Given the description of an element on the screen output the (x, y) to click on. 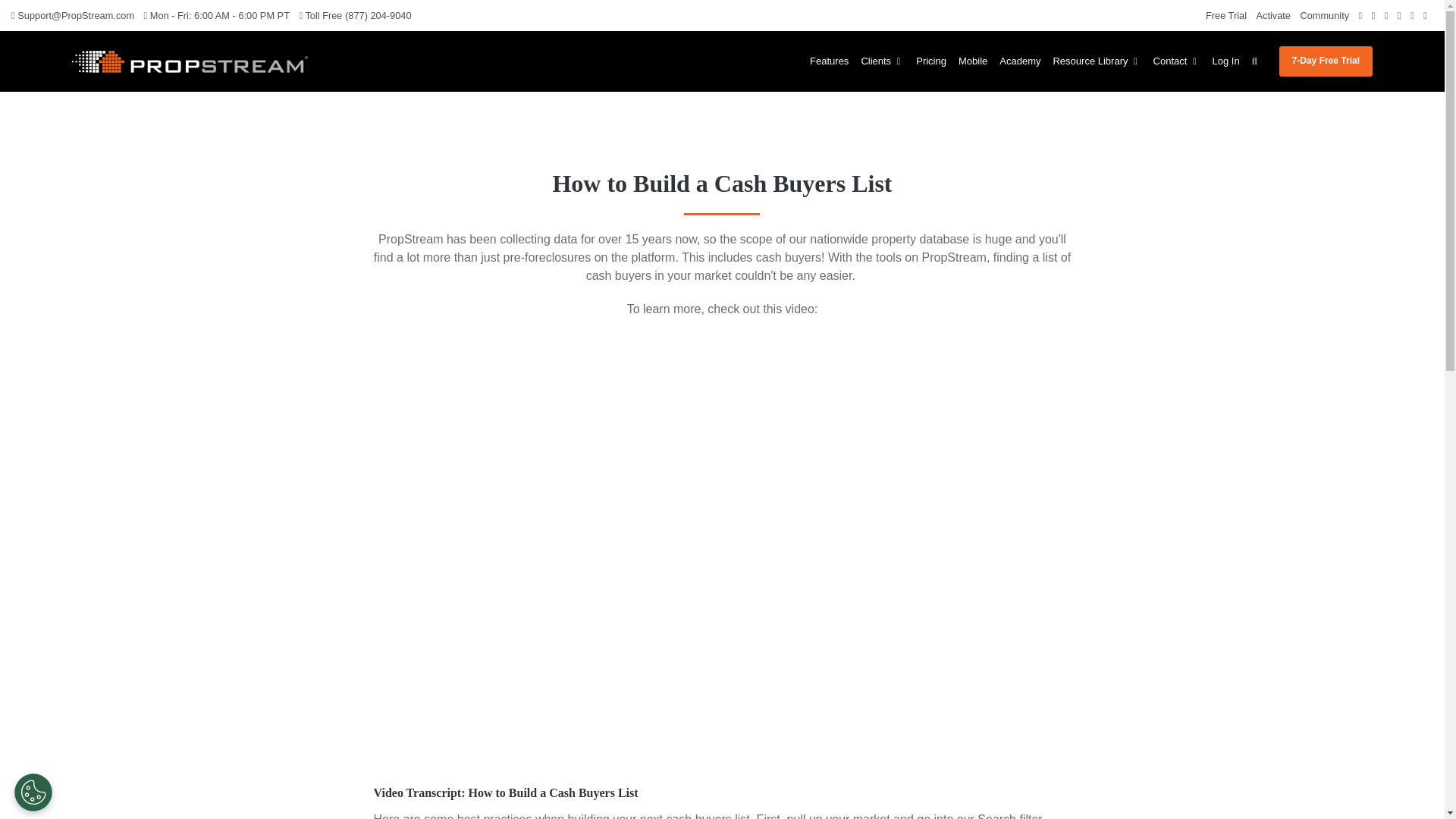
Clients (882, 60)
Free Trial (1228, 15)
Community (1327, 15)
Features (828, 60)
Academy (1019, 60)
Mon - Fri: 6:00 AM - 6:00 PM PT (219, 15)
Activate (1276, 15)
Contact (1177, 60)
Cookies Settings (33, 792)
Resource Library (1096, 60)
